Given the description of an element on the screen output the (x, y) to click on. 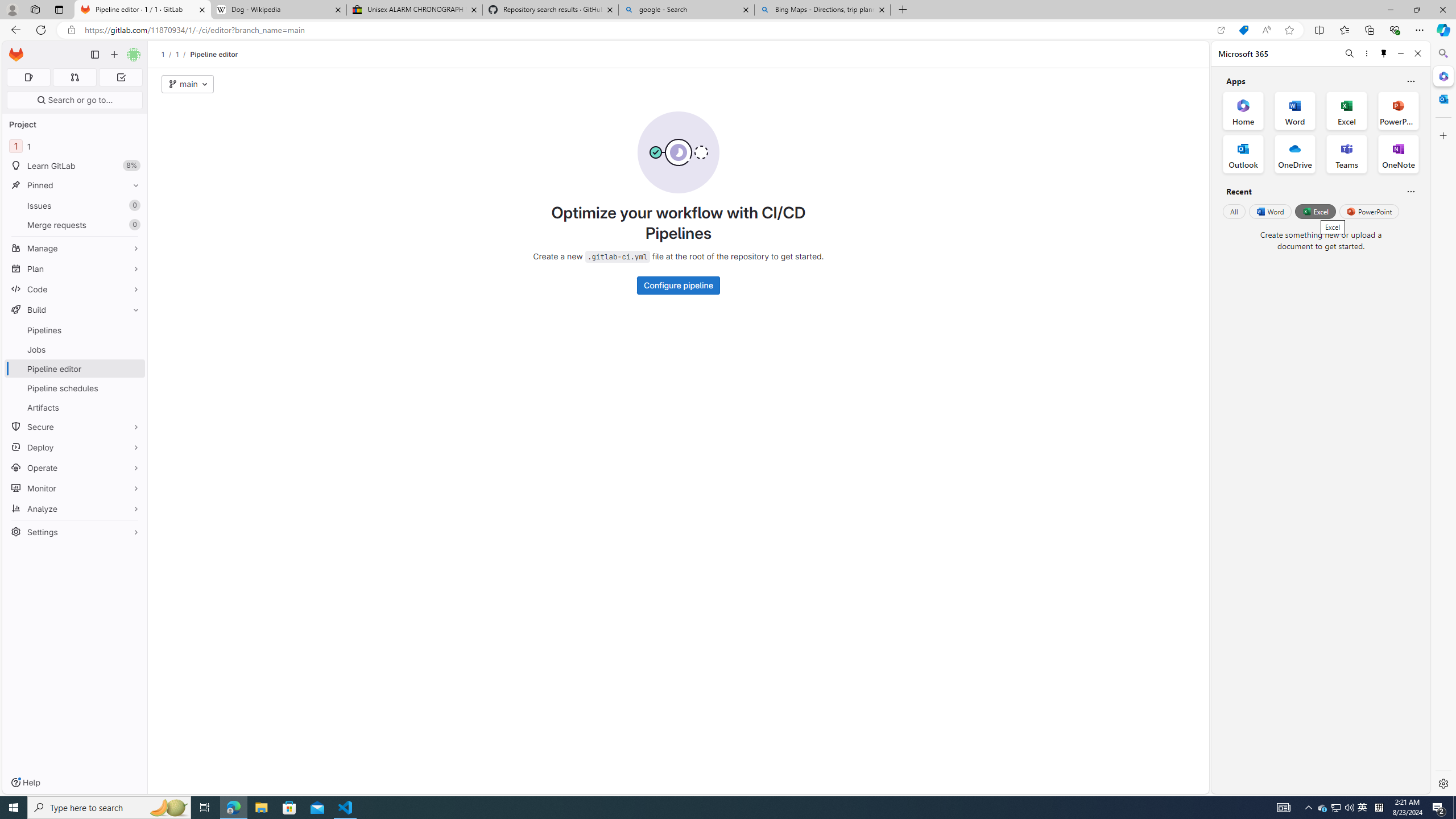
Outlook Office App (1243, 154)
Pin Artifacts (132, 407)
Home Office App (1243, 110)
Pin Pipeline schedules (132, 387)
1 (177, 53)
Pipeline editor (213, 53)
OneNote Office App (1398, 154)
BuildPipelinesJobsPipeline editorPipeline schedulesArtifacts (74, 358)
Jobs (74, 348)
